Given the description of an element on the screen output the (x, y) to click on. 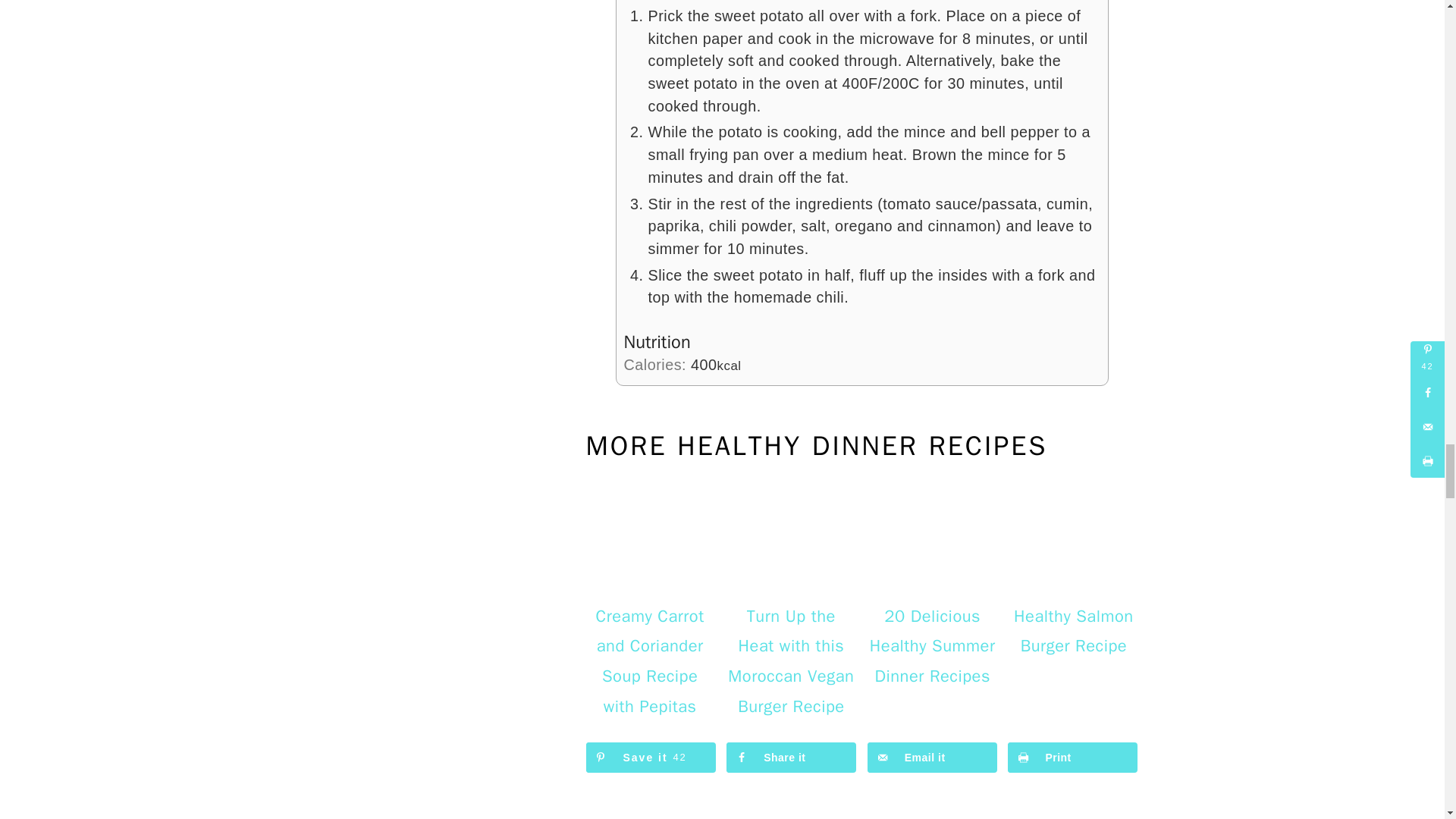
Send over email (932, 757)
Save to Pinterest (649, 757)
Share on Facebook (791, 757)
Print this webpage (1072, 757)
